Given the description of an element on the screen output the (x, y) to click on. 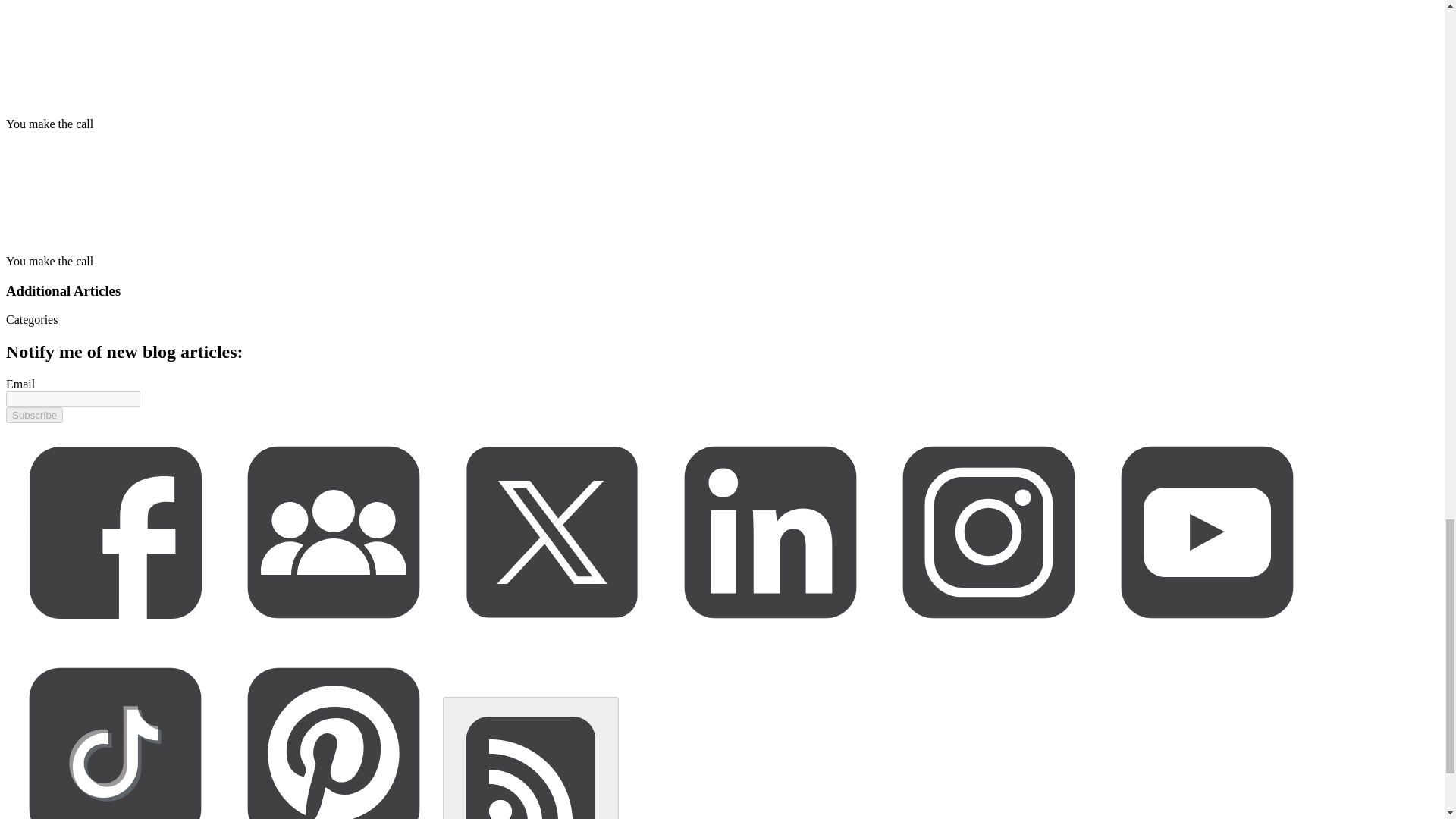
Email (19, 383)
Subscribe (33, 415)
